Given the description of an element on the screen output the (x, y) to click on. 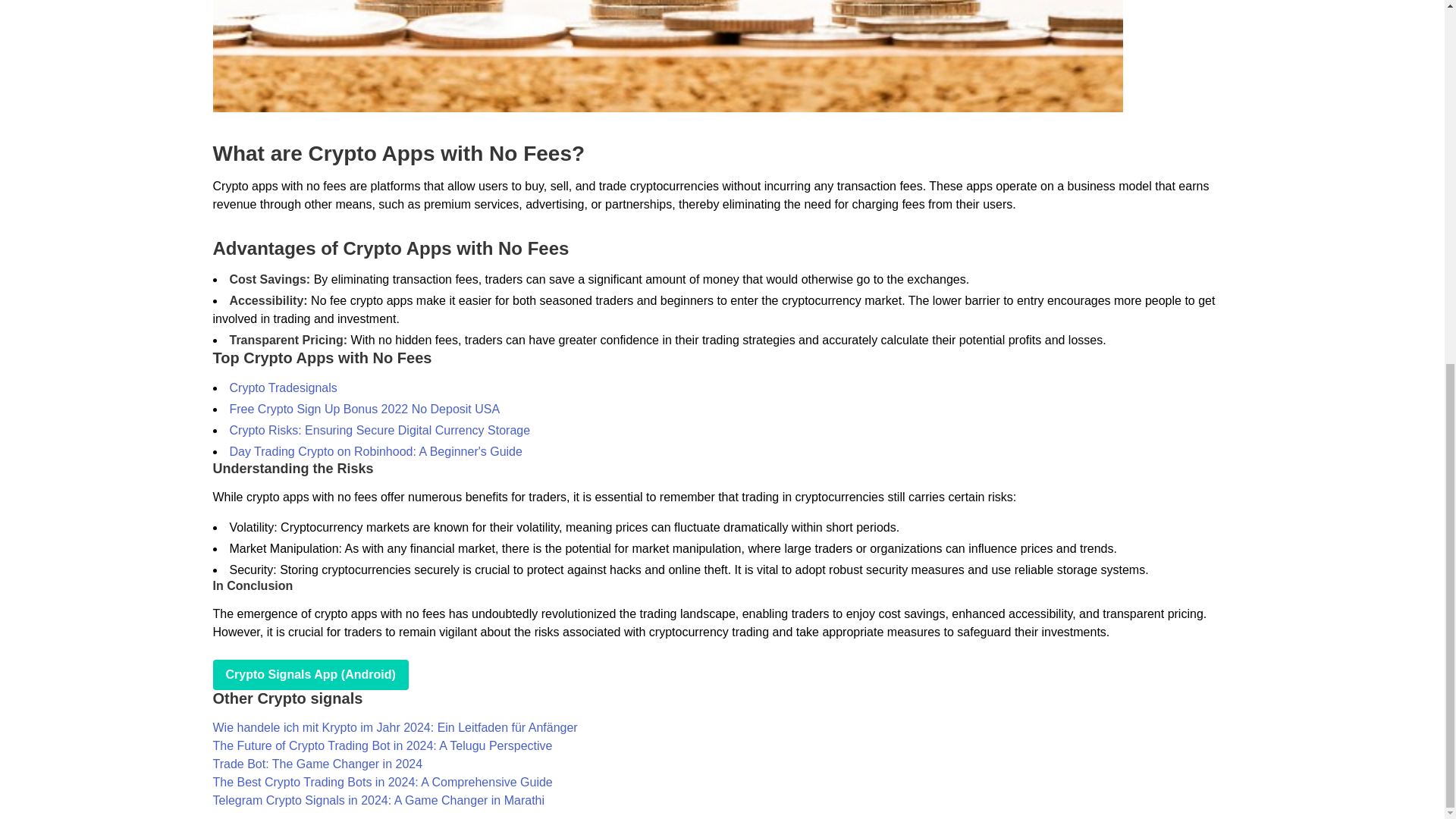
The Best Crypto Trading Bots in 2024: A Comprehensive Guide (381, 781)
The Best Crypto Trading Bots in 2024: A Comprehensive Guide (381, 781)
Telegram Crypto Signals in 2024: A Game Changer in Marathi (378, 799)
Trade Bot: The Game Changer in 2024 (317, 763)
Crypto Tradesignals (282, 387)
Crypto Risks: Ensuring Secure Digital Currency Storage (378, 430)
Day Trading Crypto on Robinhood: A Beginner's Guide (374, 451)
Free Crypto Sign Up Bonus 2022 No Deposit USA (363, 408)
play (309, 675)
Telegram Crypto Signals in 2024: A Game Changer in Marathi (378, 799)
